Given the description of an element on the screen output the (x, y) to click on. 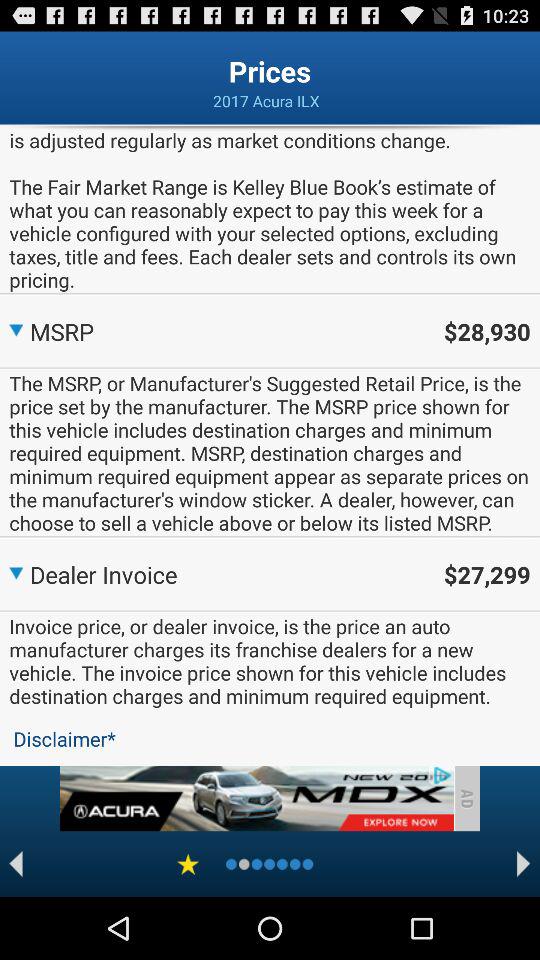
previous page (16, 864)
